Given the description of an element on the screen output the (x, y) to click on. 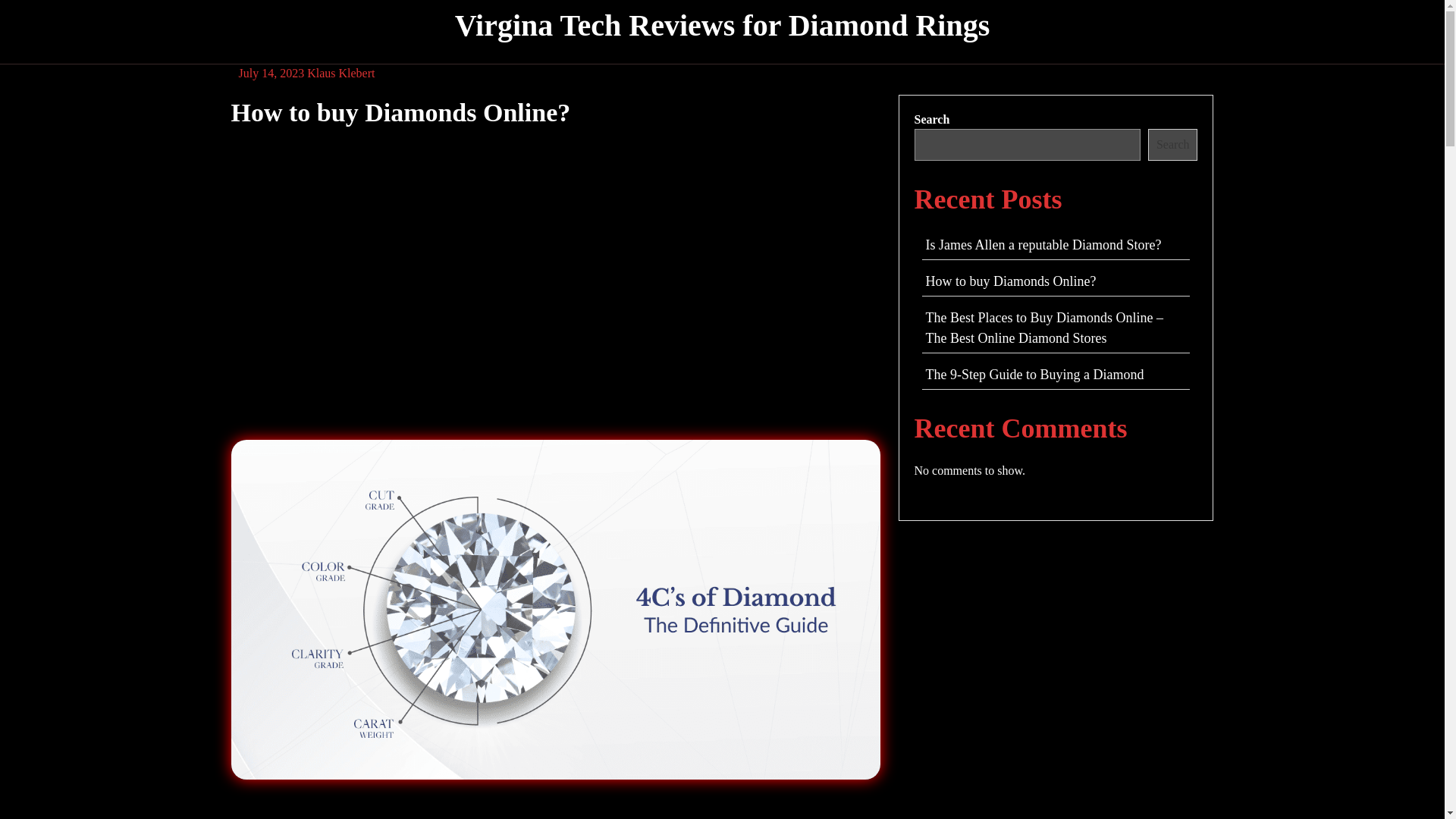
Virgina Tech Reviews for Diamond Rings (722, 25)
How to buy Diamonds Online? (1010, 281)
The 9-Step Guide to Buying a Diamond (1033, 374)
Search (1173, 144)
Is James Allen a reputable Diamond Store? (1042, 244)
